Given the description of an element on the screen output the (x, y) to click on. 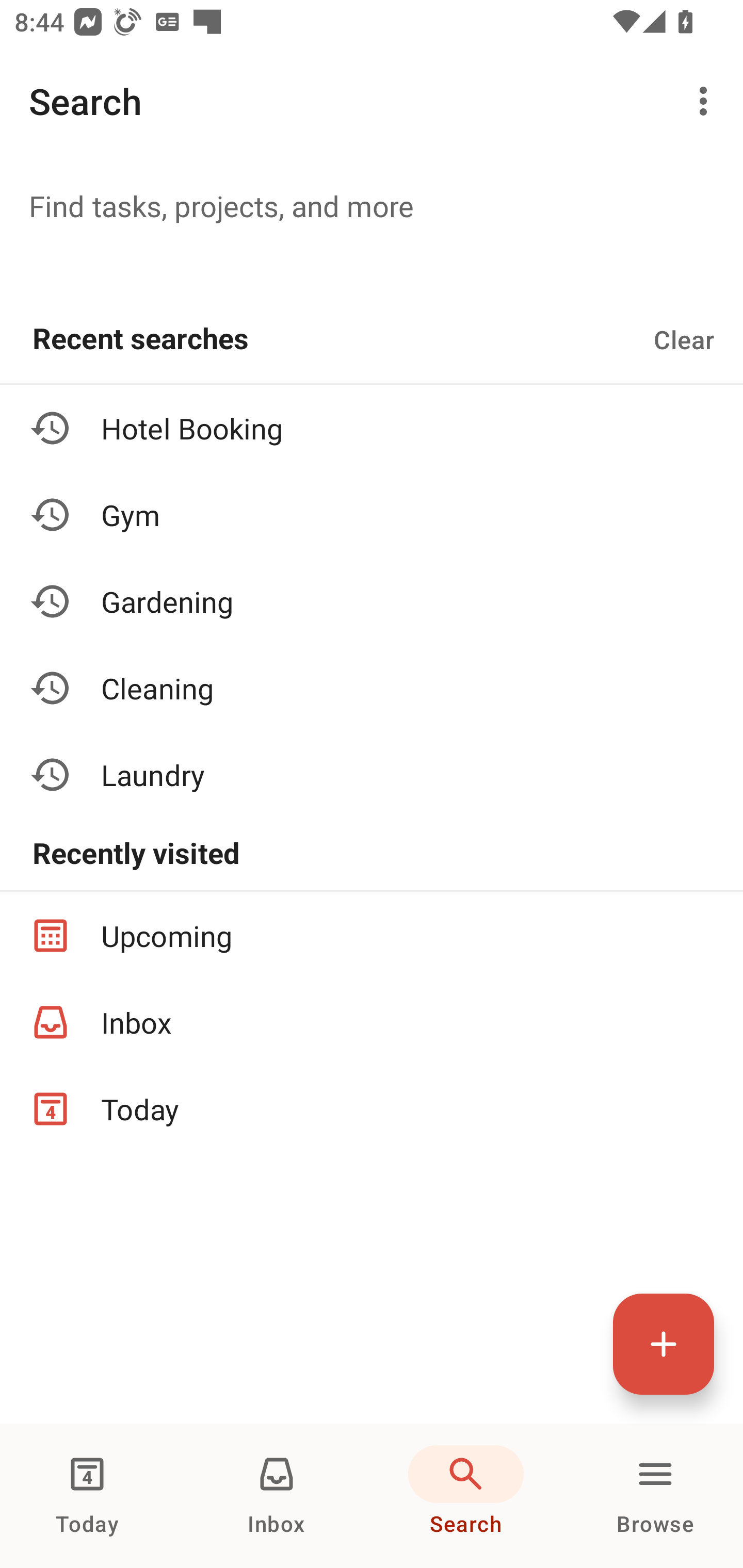
Search More options (371, 100)
More options (706, 101)
Find tasks, projects, and more (371, 205)
Clear (683, 339)
Hotel Booking (371, 427)
Gym (371, 514)
Gardening (371, 601)
Cleaning (371, 687)
Laundry (371, 774)
Upcoming (371, 935)
Inbox (371, 1022)
Today (371, 1109)
Quick add (663, 1343)
Today (87, 1495)
Inbox (276, 1495)
Browse (655, 1495)
